Given the description of an element on the screen output the (x, y) to click on. 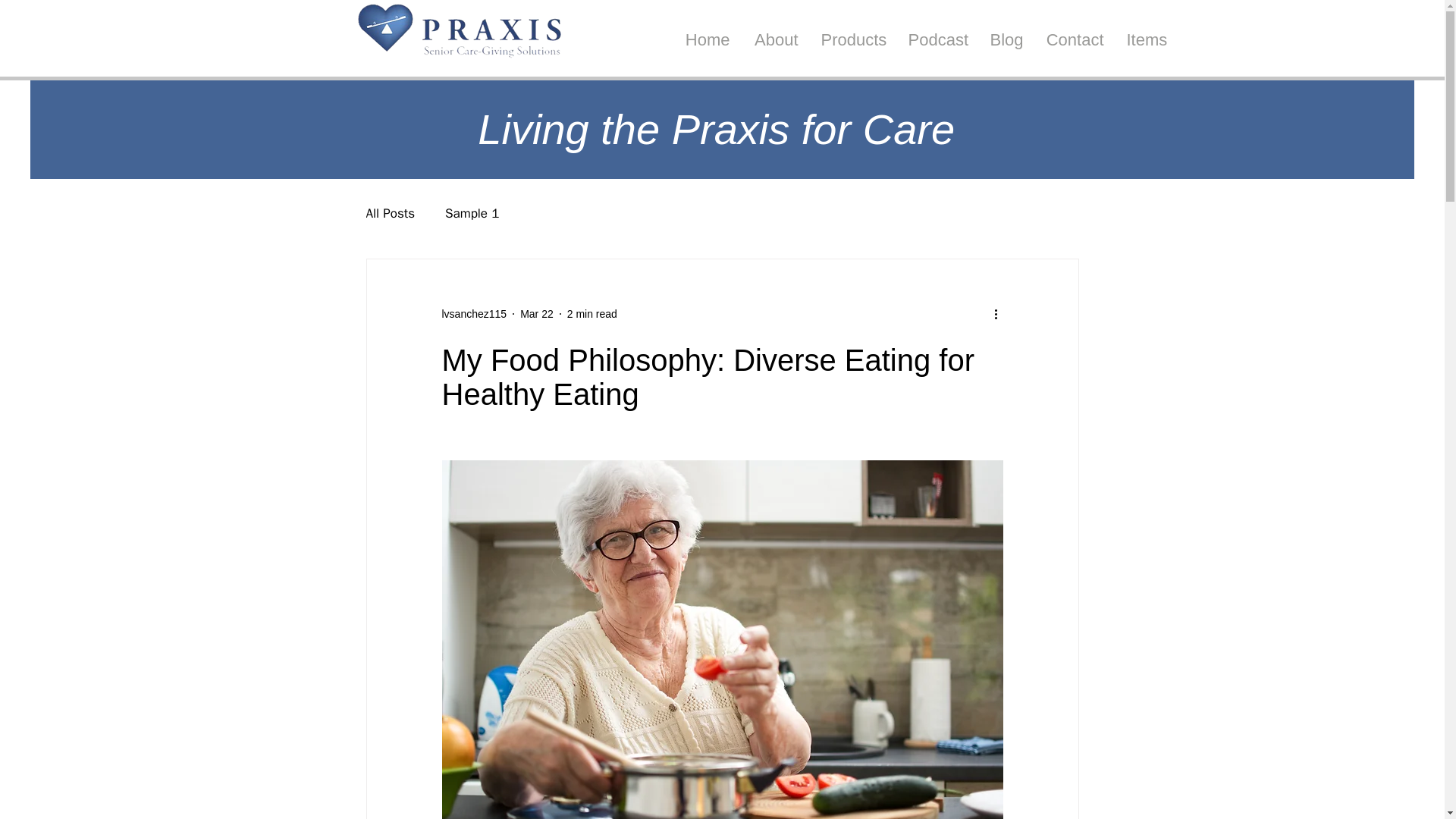
lvsanchez115 (473, 314)
About (775, 40)
Sample 1 (472, 212)
Contact (1074, 40)
Home (706, 40)
2 min read (592, 313)
All Posts (389, 212)
Mar 22 (536, 313)
Podcast (936, 40)
Products (852, 40)
